Given the description of an element on the screen output the (x, y) to click on. 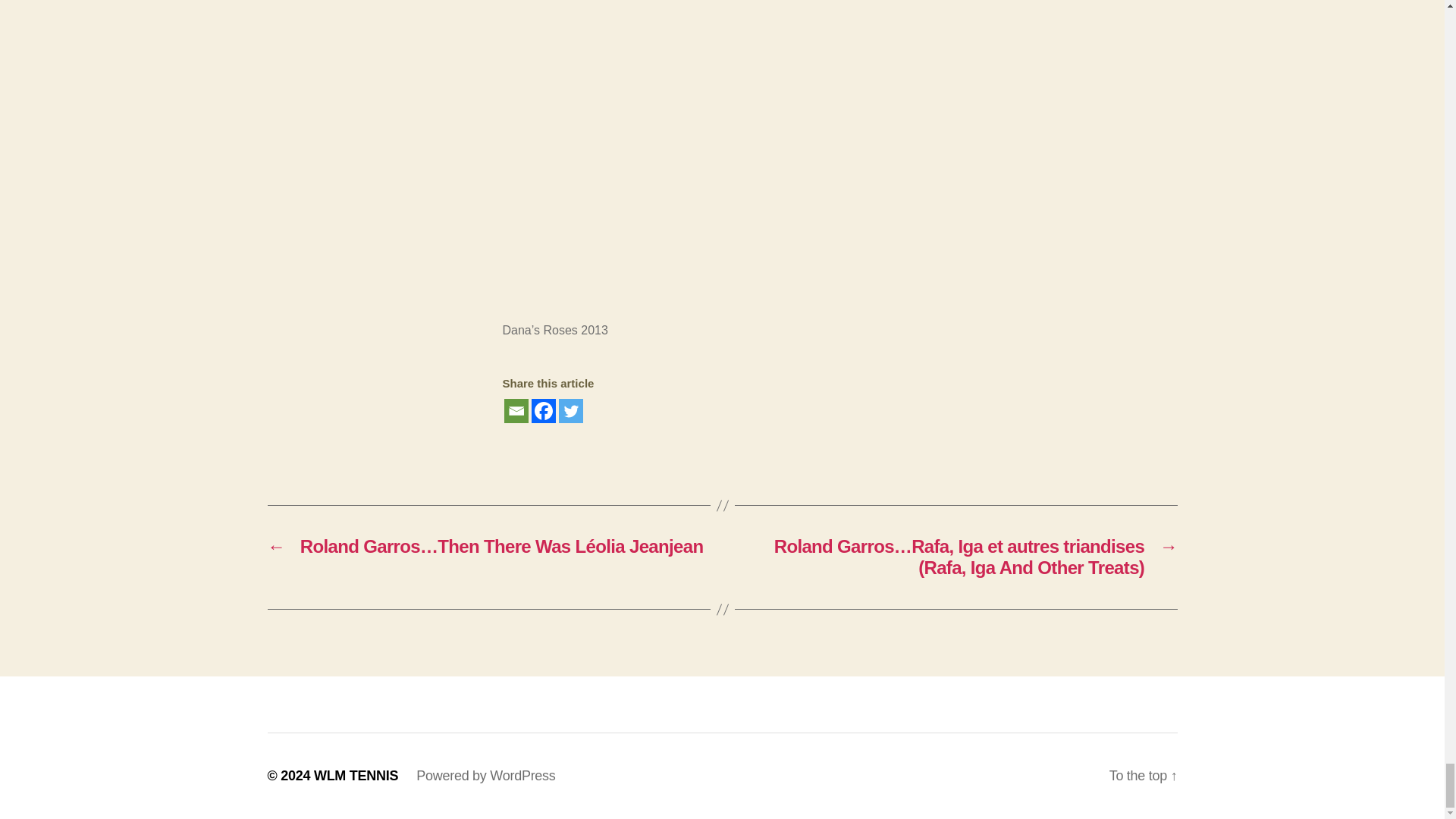
Twitter (569, 410)
Email (515, 410)
Facebook (542, 410)
